Given the description of an element on the screen output the (x, y) to click on. 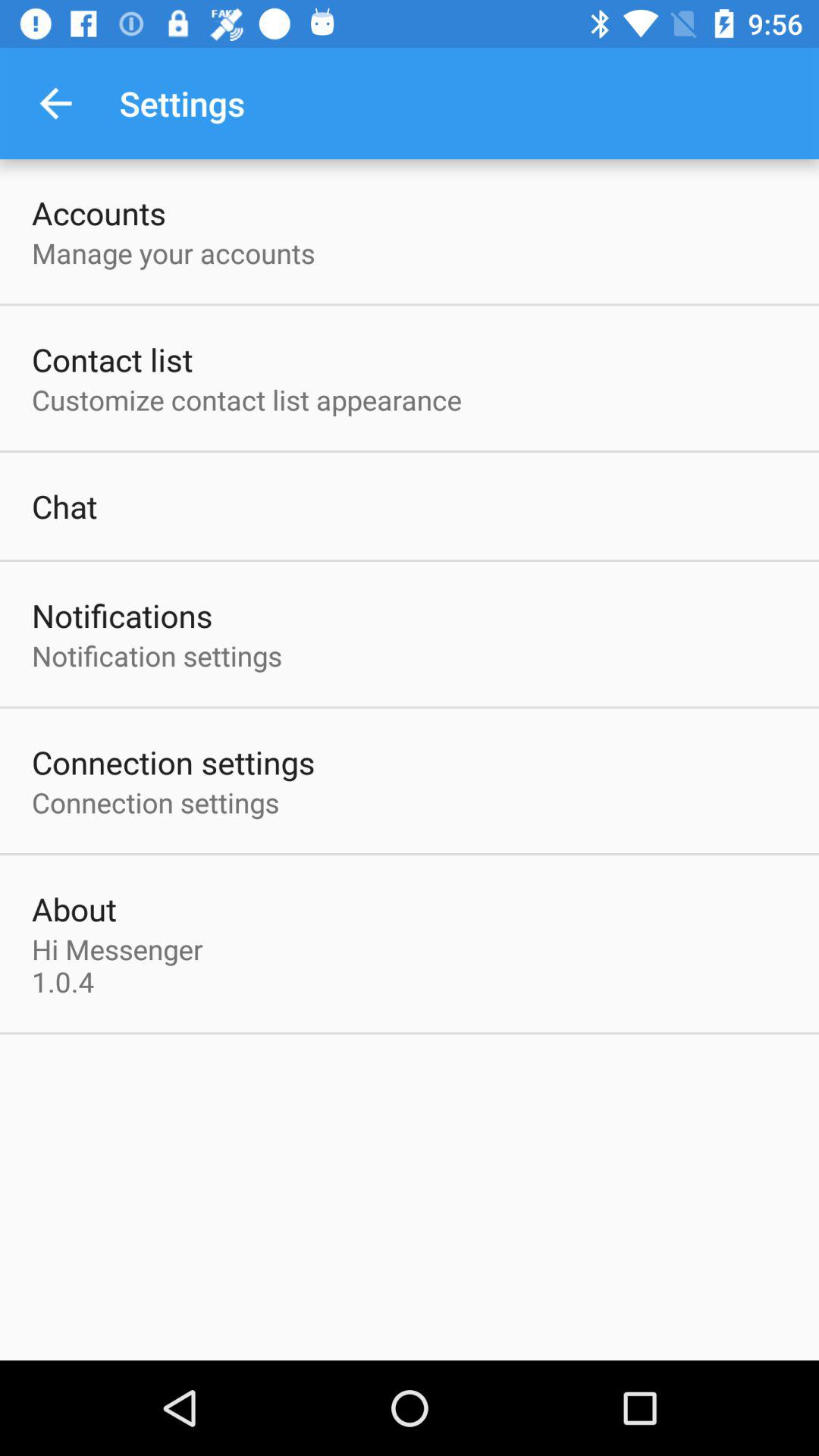
choose the item above the hi messenger 1 icon (73, 908)
